Given the description of an element on the screen output the (x, y) to click on. 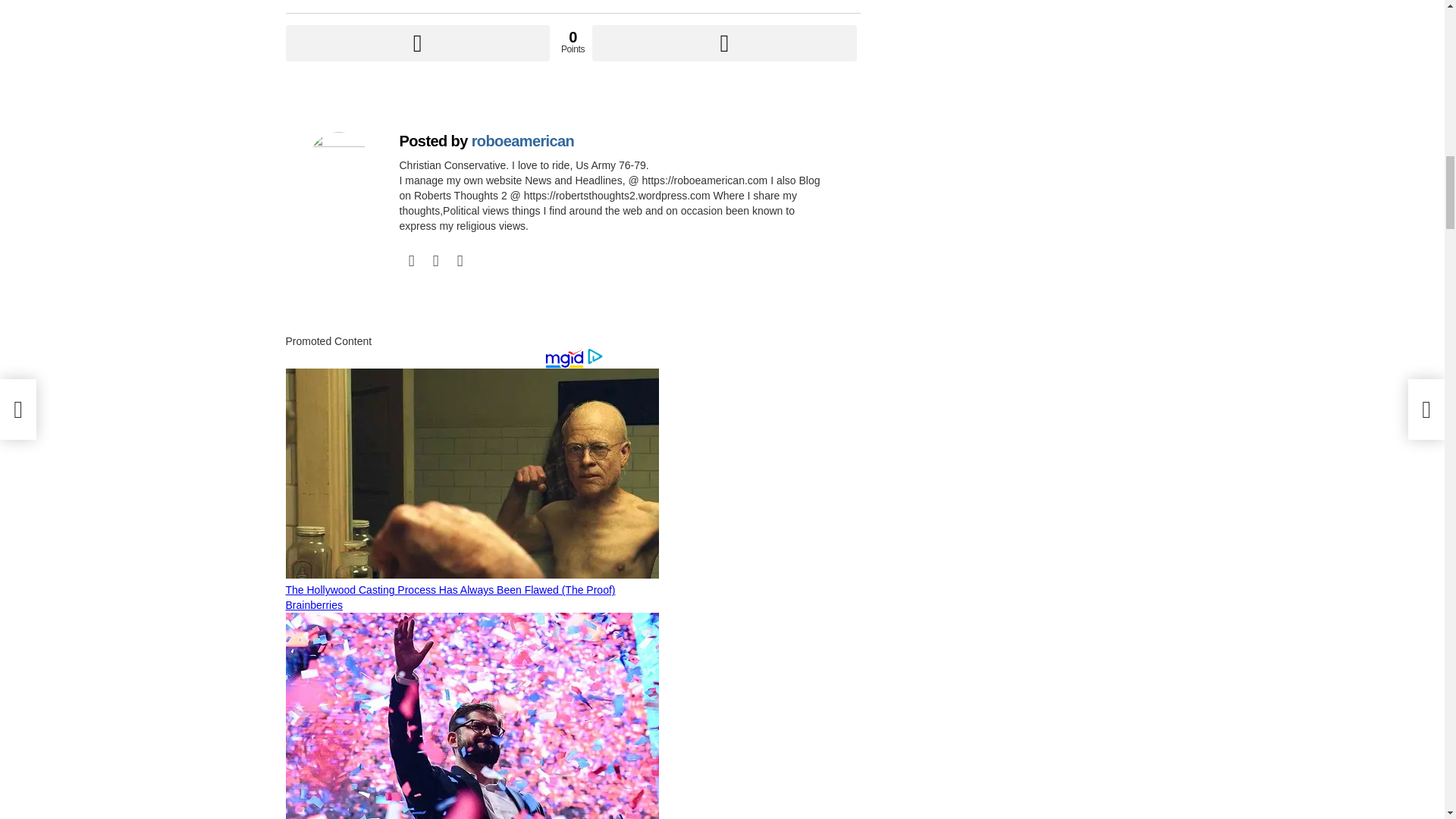
Upvote (416, 43)
Downvote (724, 43)
